Given the description of an element on the screen output the (x, y) to click on. 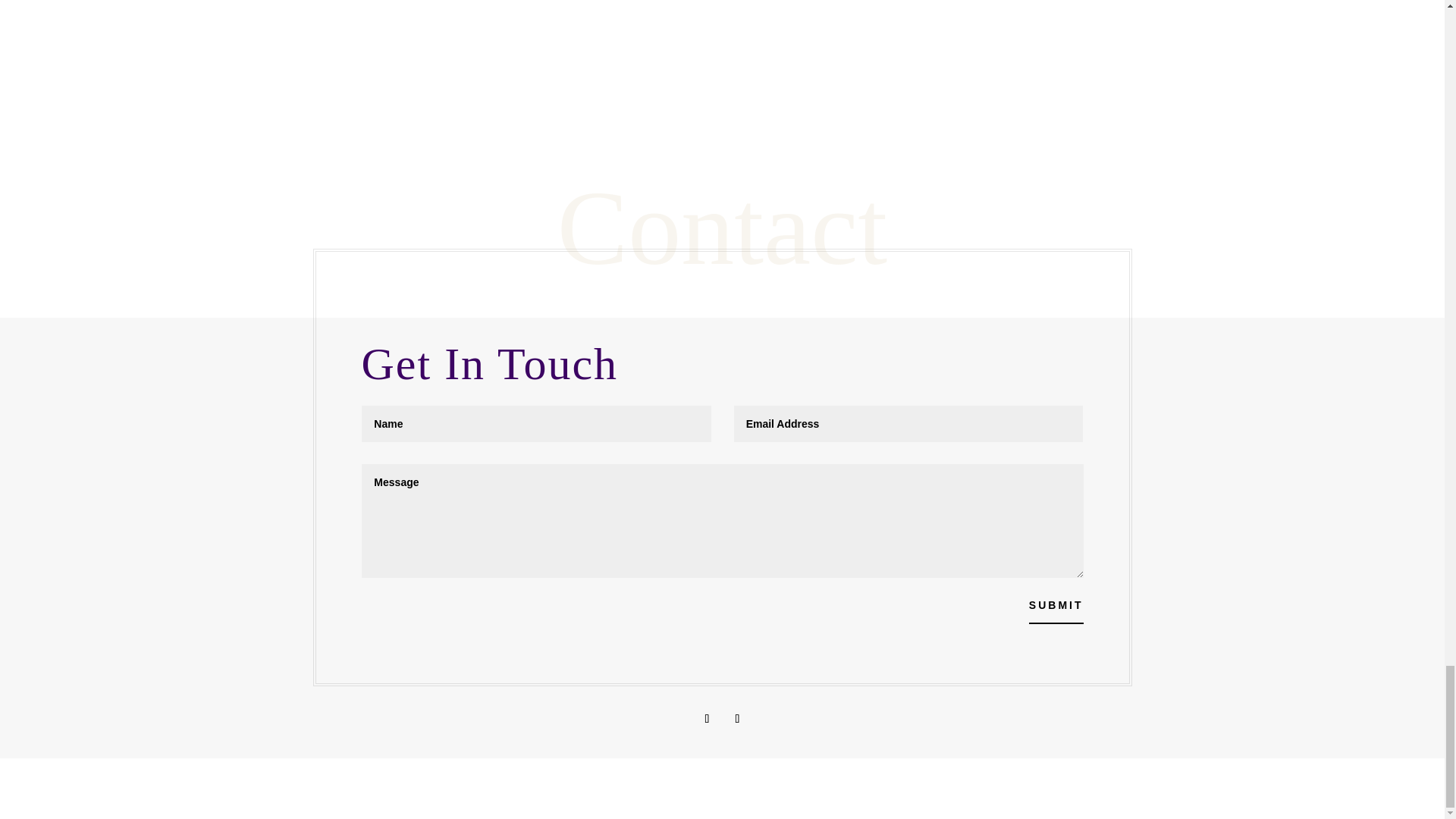
039A0952 (897, 52)
Follow on Instagram (737, 718)
Follow on Facebook (706, 718)
SUBMIT (1056, 605)
